Given the description of an element on the screen output the (x, y) to click on. 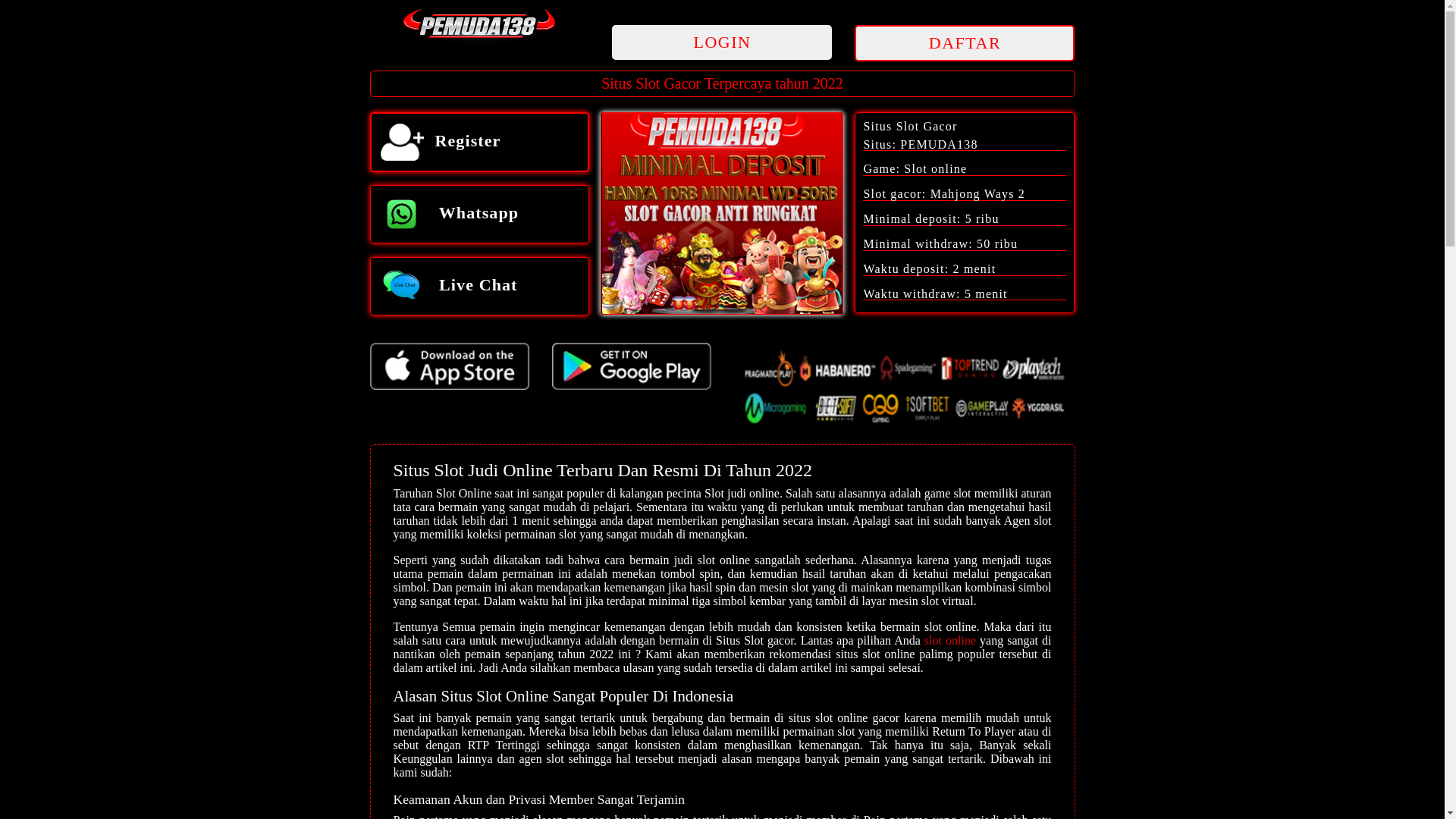
LOGIN Element type: text (721, 42)
Register Element type: text (479, 142)
slot online Element type: text (949, 639)
DAFTAR Element type: text (964, 43)
Live Chat Element type: text (479, 286)
LOGIN Element type: text (721, 43)
Whatsapp Element type: text (479, 214)
DAFTAR Element type: text (964, 43)
